Given the description of an element on the screen output the (x, y) to click on. 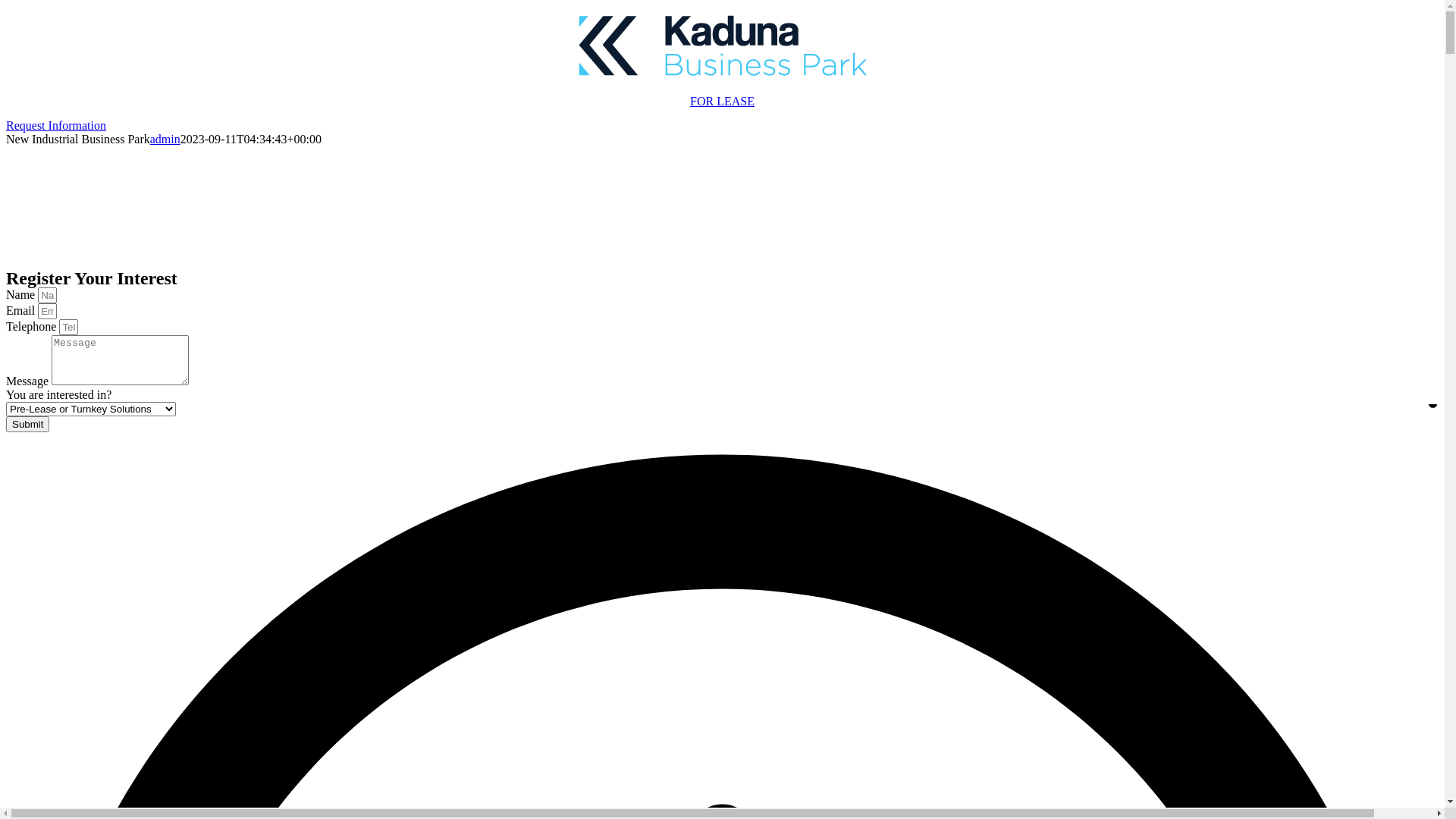
FOR LEASE Element type: text (721, 101)
Request Information Element type: text (56, 125)
admin Element type: text (165, 138)
Submit Element type: text (27, 424)
